Given the description of an element on the screen output the (x, y) to click on. 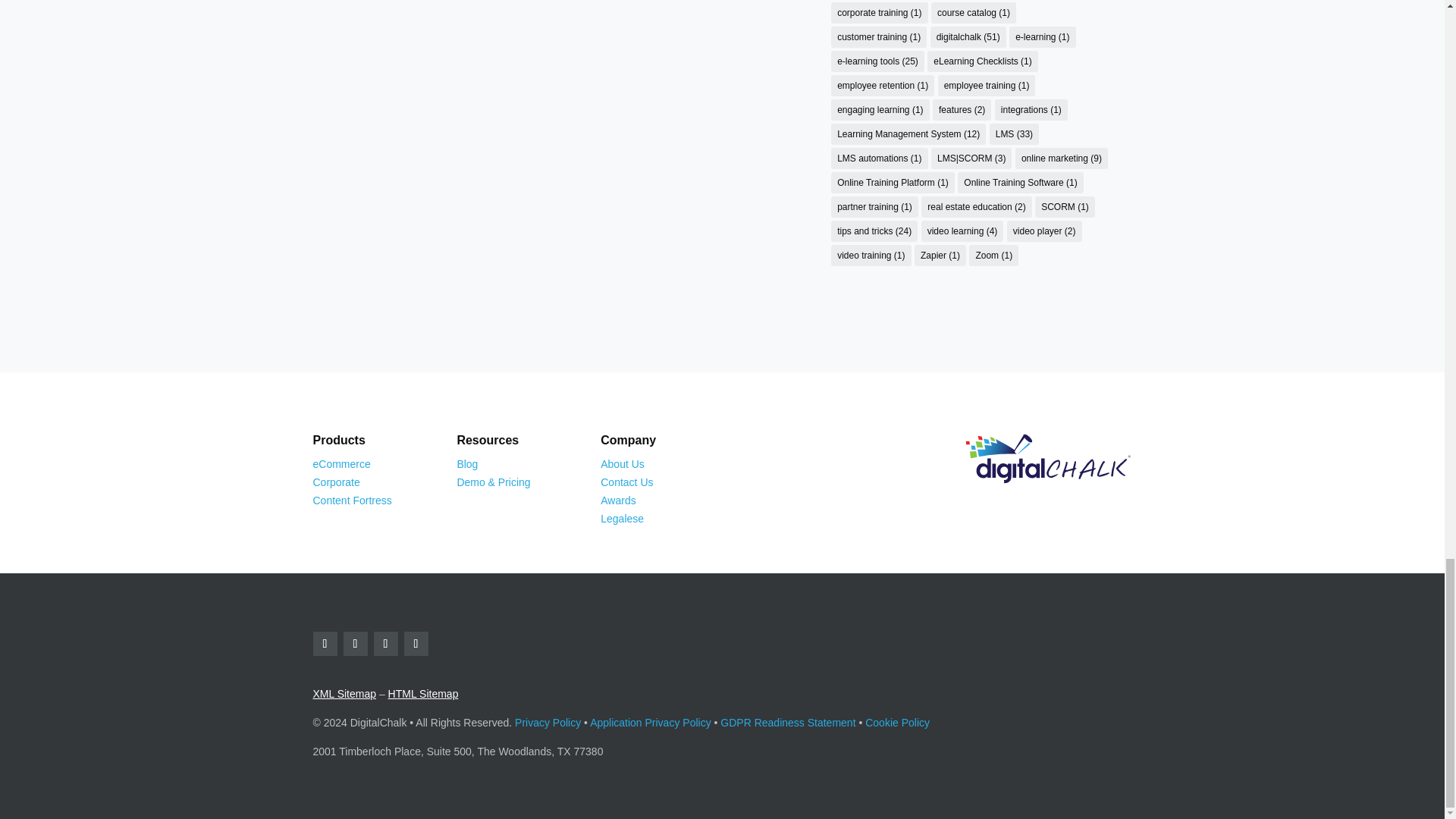
Content Fortress product Info (352, 500)
Follow on Facebook (324, 643)
digitalchalk (1048, 459)
About the DigitalChalk company (622, 463)
DigitalChalk for Corporate LMS (336, 481)
Follow on Youtube (354, 643)
Follow on X (384, 643)
All the ways to contact the DigitalChalk team (625, 481)
Follow on LinkedIn (415, 643)
DigitalChalk Continuing Ed product info (341, 463)
